Given the description of an element on the screen output the (x, y) to click on. 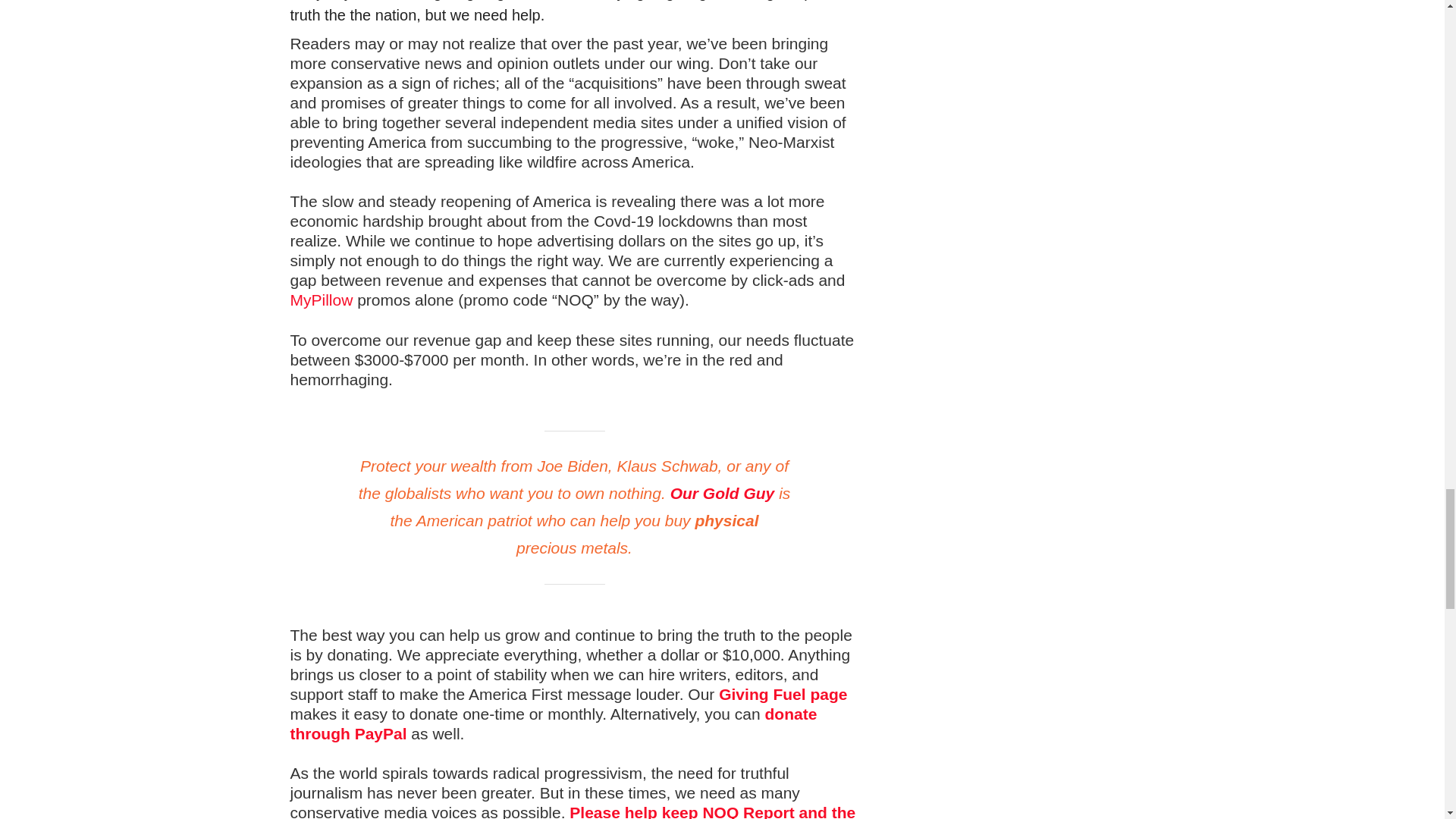
donate through PayPal (552, 723)
Giving Fuel page (783, 693)
Our Gold Guy (721, 493)
MyPillow (320, 299)
